Given the description of an element on the screen output the (x, y) to click on. 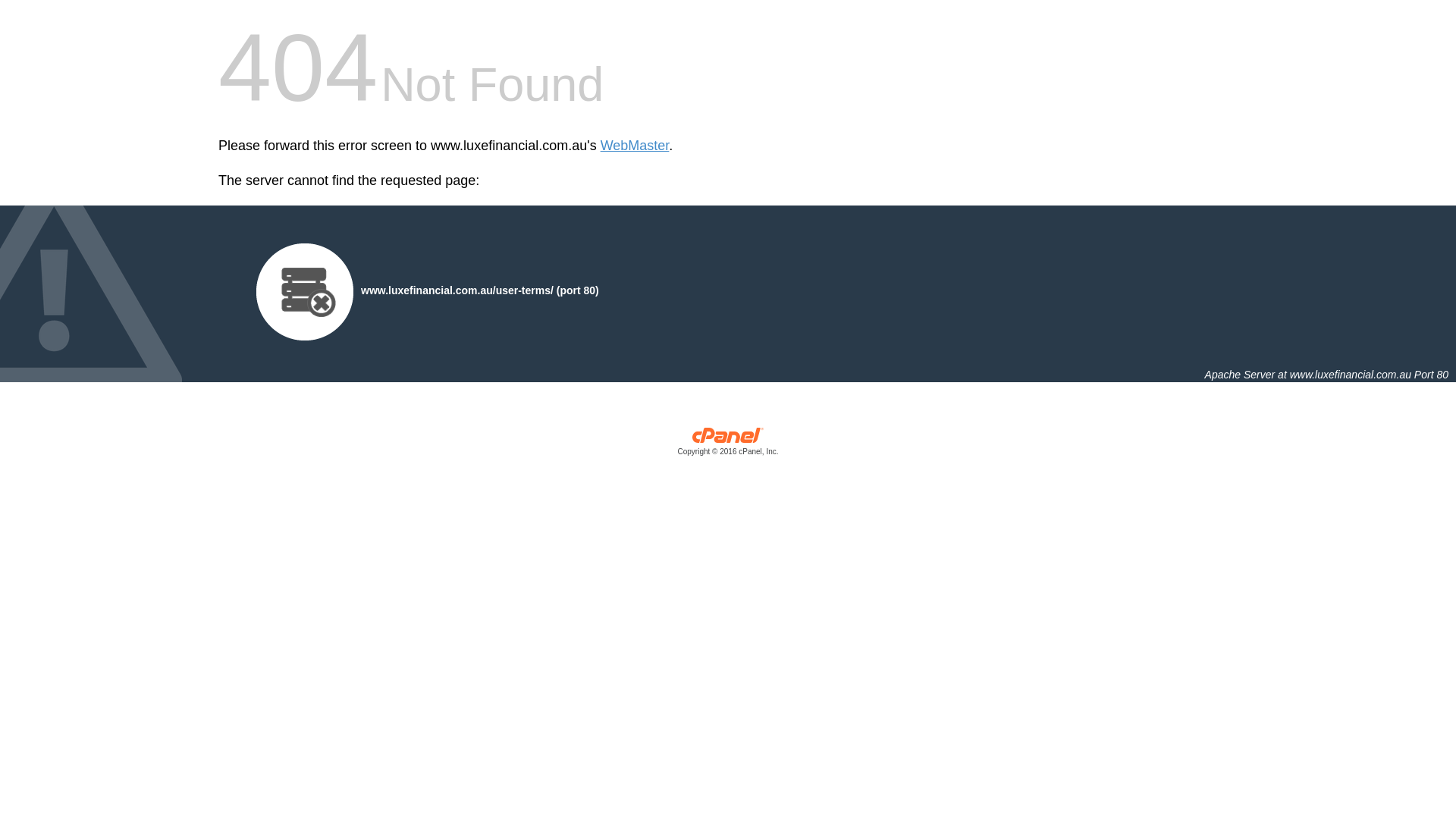
WebMaster Element type: text (634, 145)
